Given the description of an element on the screen output the (x, y) to click on. 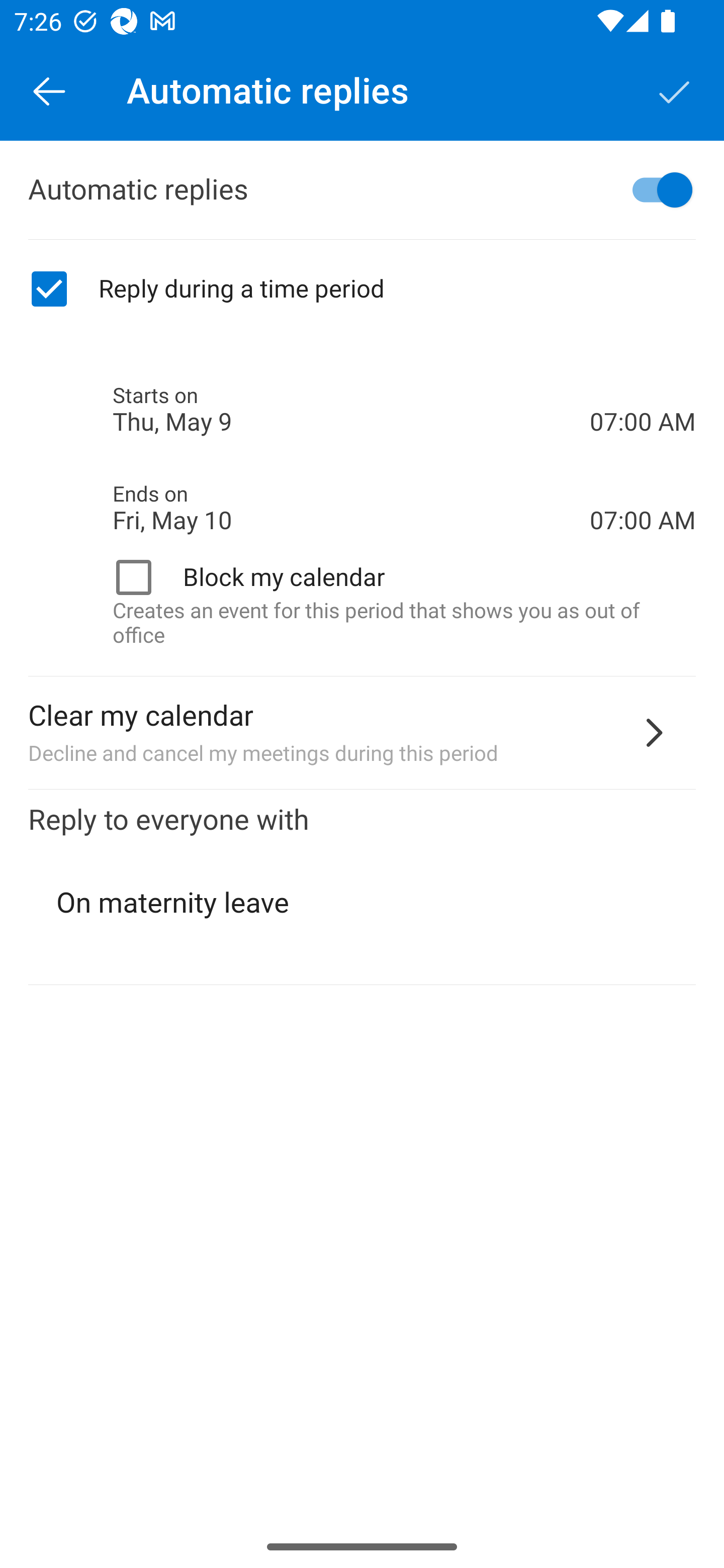
Back (49, 90)
Save (674, 90)
Automatic replies (362, 190)
Reply during a time period (362, 288)
07:00 AM (642, 387)
Starts on Thu, May 9 (351, 409)
07:00 AM (642, 485)
Ends on Fri, May 10 (351, 507)
Reply to everyone with Edit box On maternity leave (361, 887)
On maternity leave (363, 902)
